Given the description of an element on the screen output the (x, y) to click on. 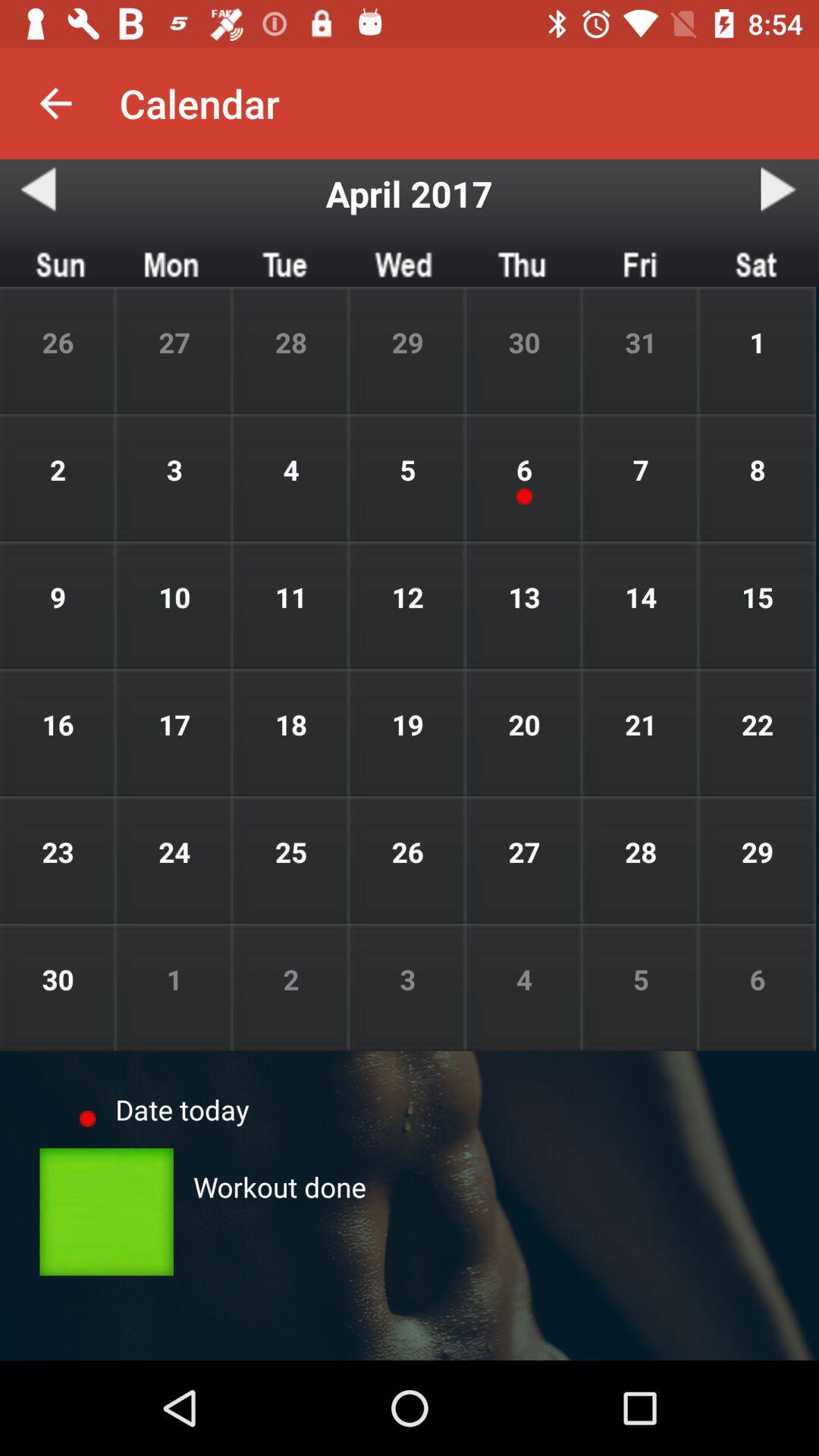
click the button below the button on the top left corner of the web page (39, 188)
